Given the description of an element on the screen output the (x, y) to click on. 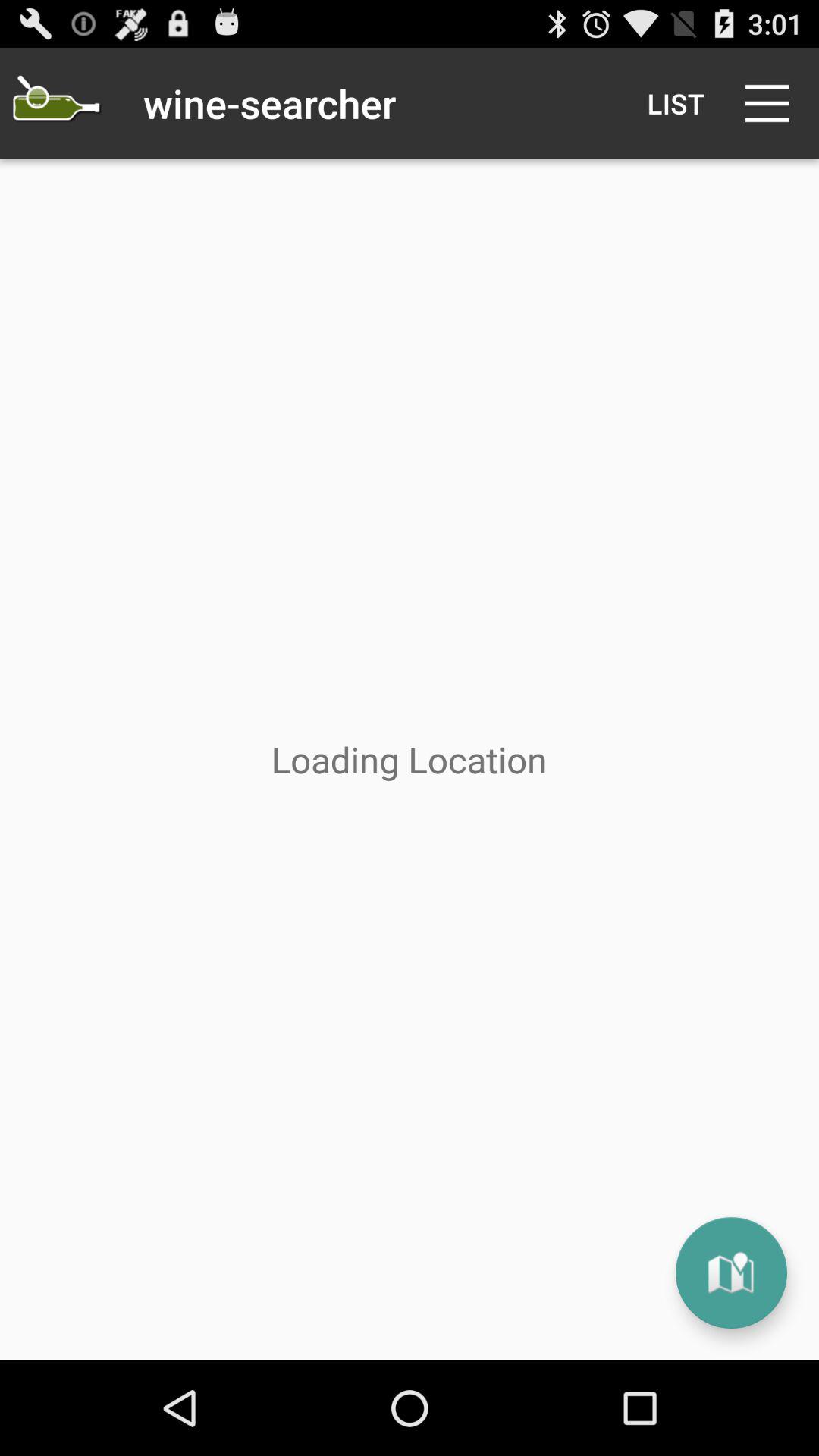
choose the item next to list (771, 103)
